Given the description of an element on the screen output the (x, y) to click on. 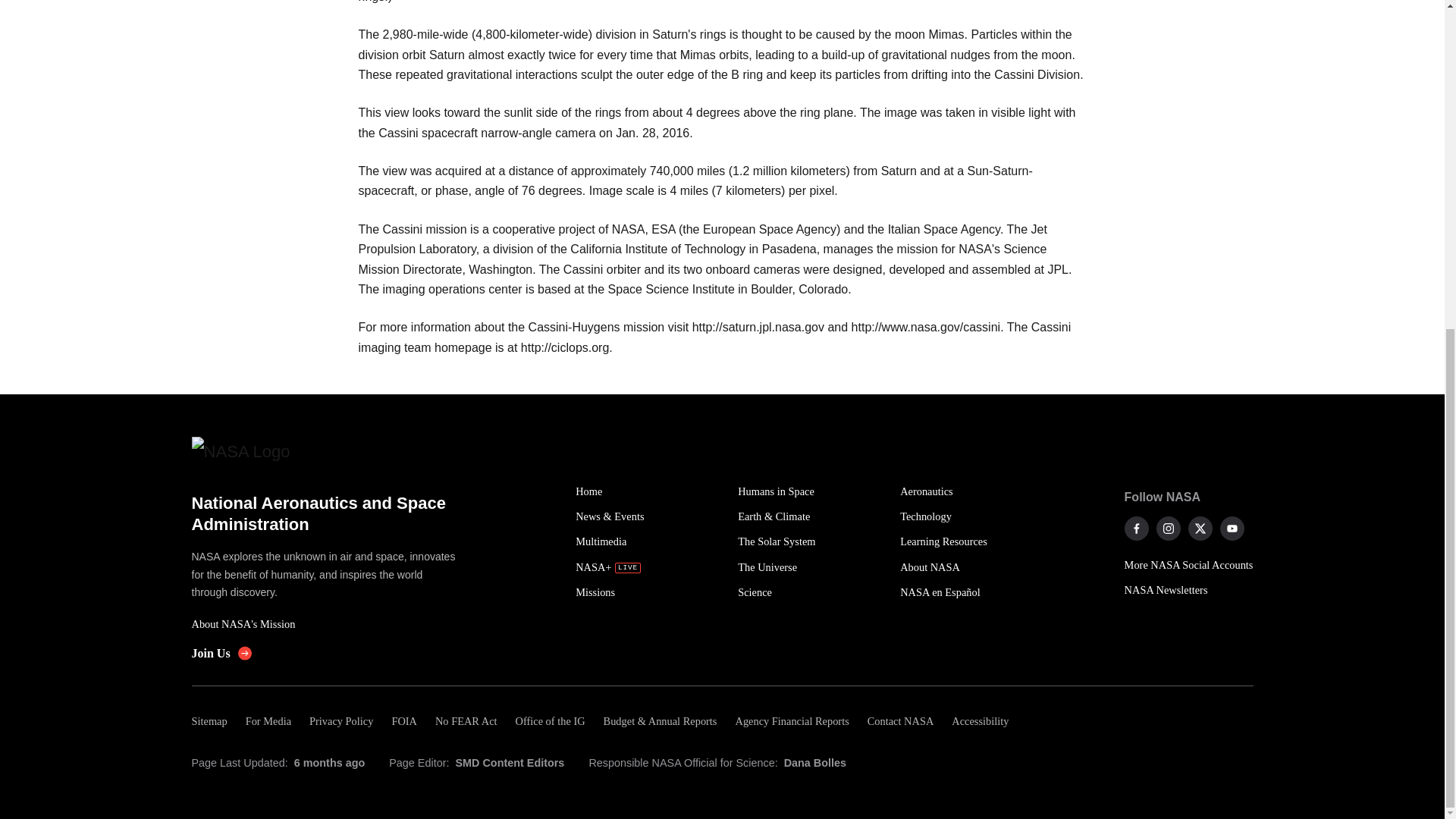
Accessibility (979, 721)
Agency Financial Reports (791, 721)
Office of the IG (550, 721)
No FEAR Act (466, 721)
Contact NASA (901, 721)
Privacy Policy (340, 721)
For Media (267, 721)
FOIA (403, 721)
Sitemap (212, 721)
